Given the description of an element on the screen output the (x, y) to click on. 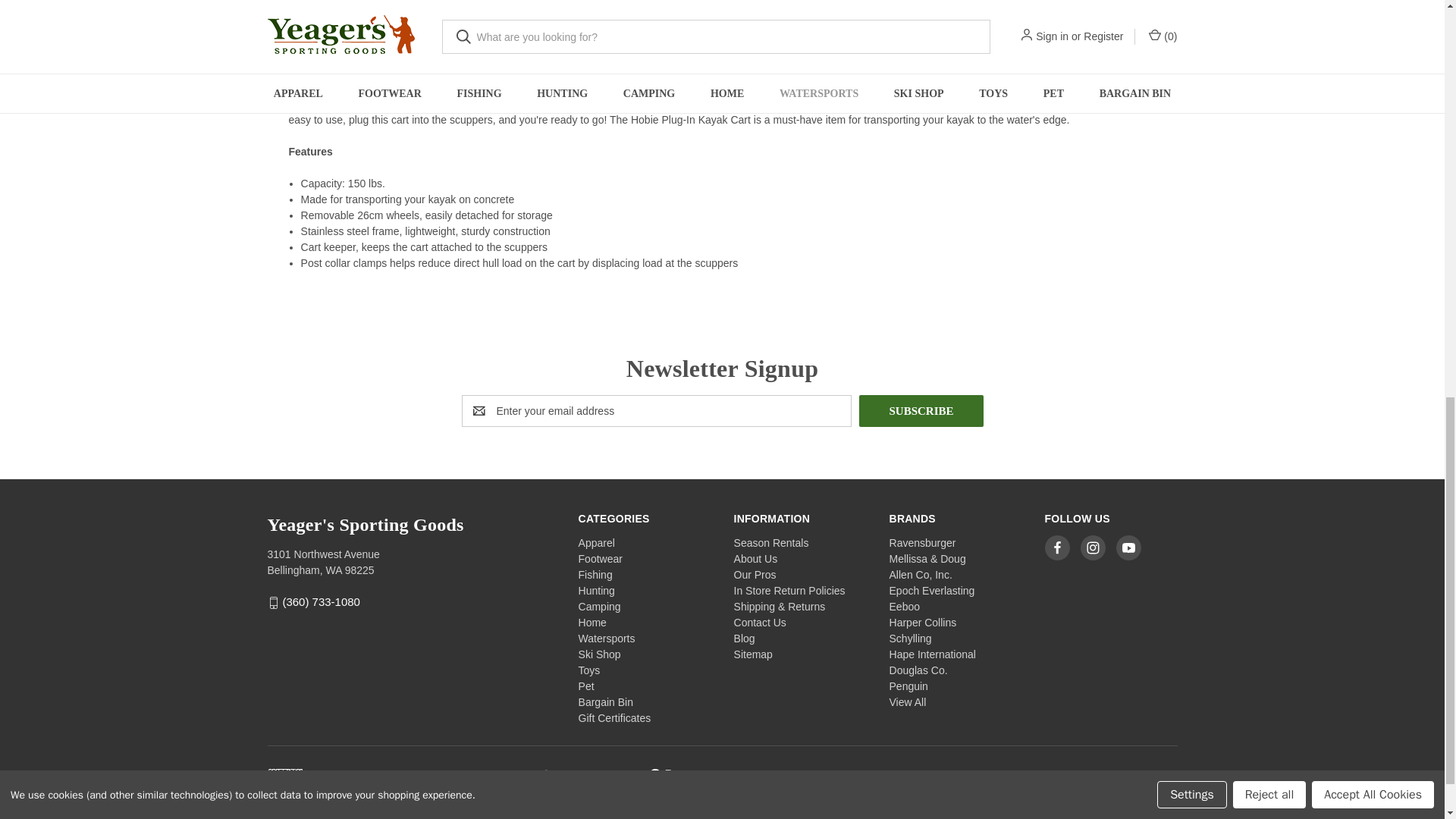
Subscribe (920, 410)
